Given the description of an element on the screen output the (x, y) to click on. 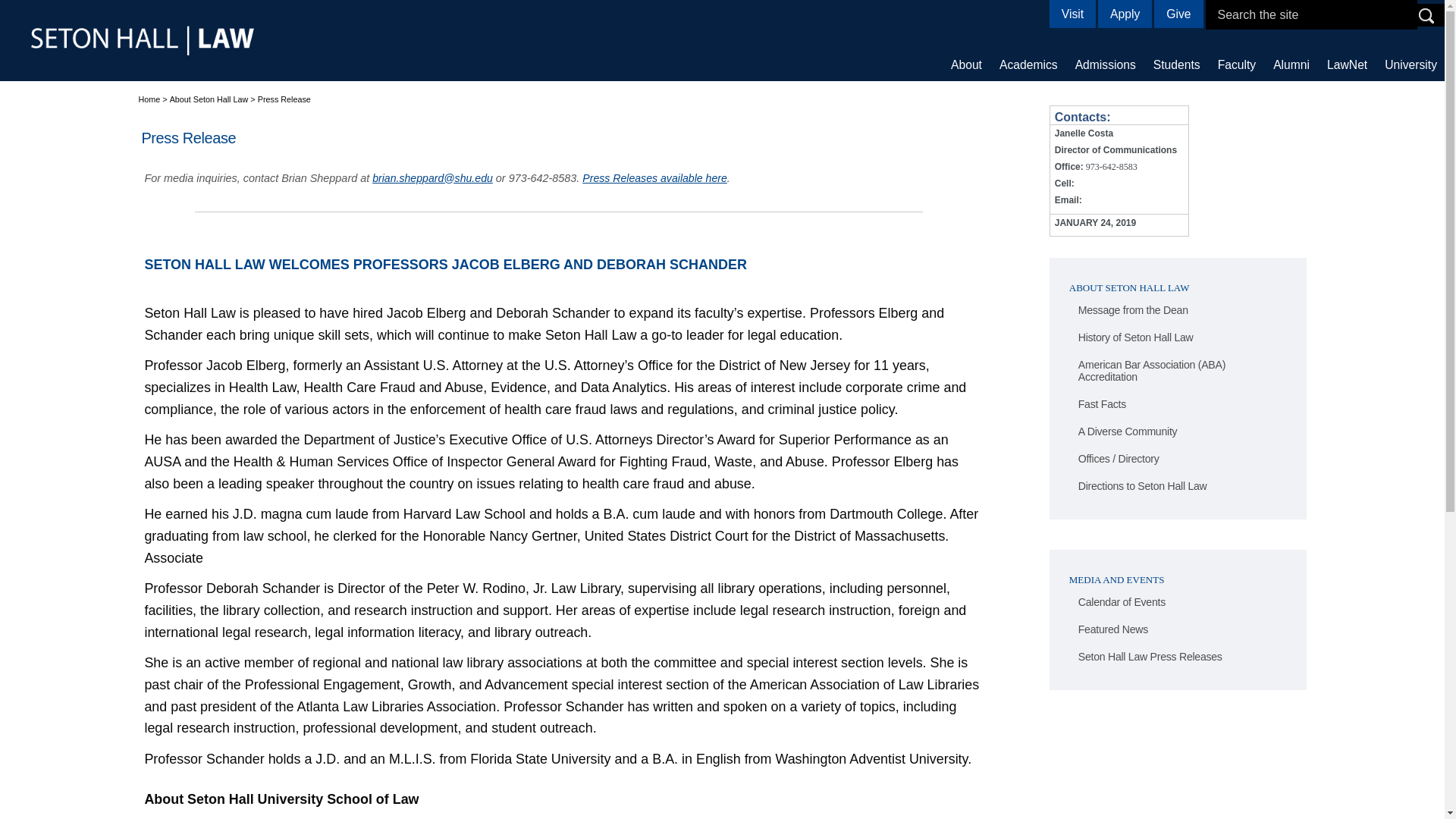
Admissions (1104, 65)
Academics (1028, 65)
About (966, 65)
Visit (1072, 13)
LawNet (1346, 65)
Give (1178, 13)
Apply (1124, 13)
